Given the description of an element on the screen output the (x, y) to click on. 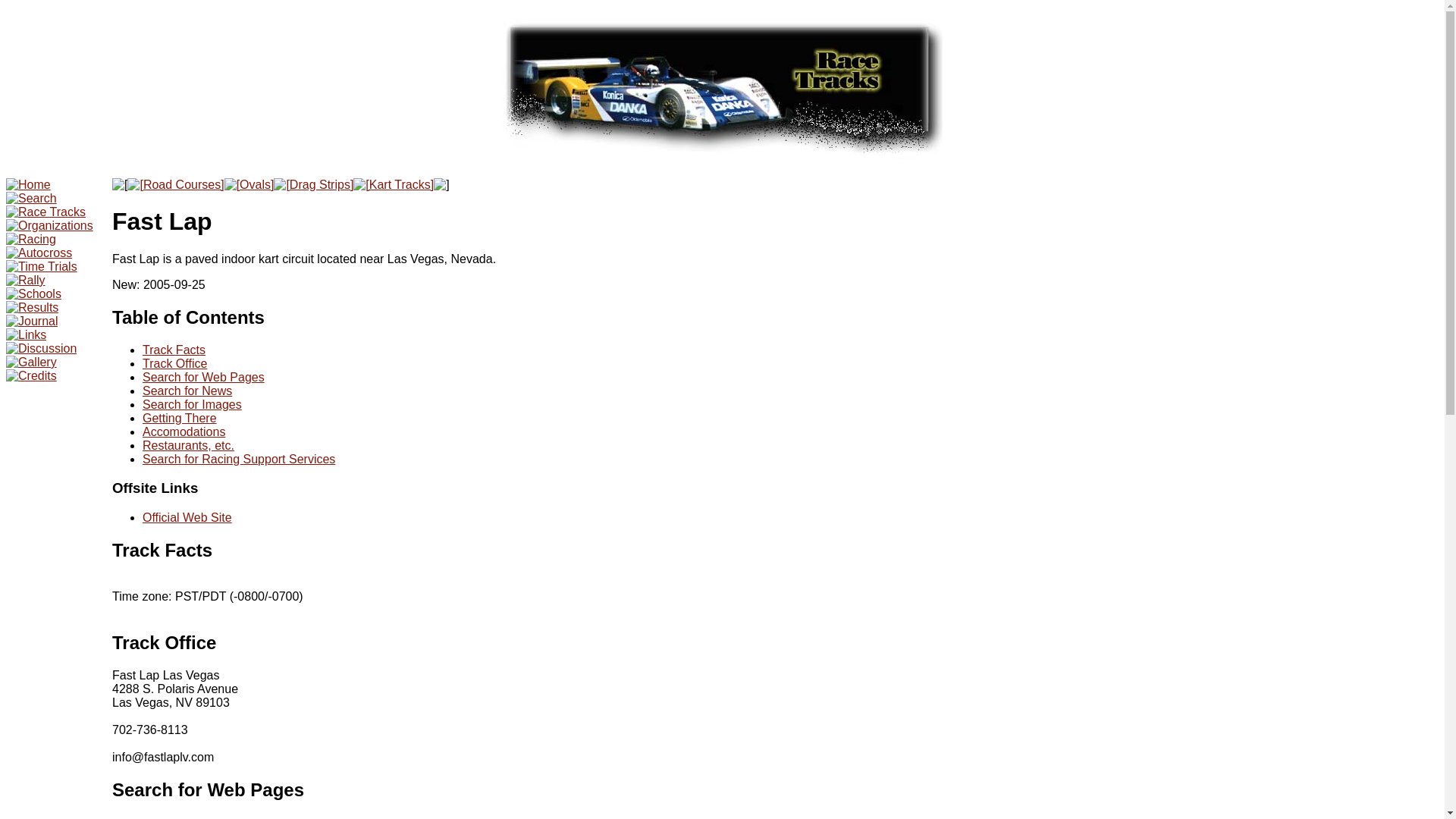
Track Office (163, 642)
Getting There (179, 418)
Track Office (174, 363)
Search for Web Pages (203, 377)
Search for Racing Support Services (238, 459)
Track Facts (162, 549)
Search for Images (191, 404)
Official Web Site (186, 517)
Track Facts (173, 349)
Restaurants, etc. (188, 445)
